Given the description of an element on the screen output the (x, y) to click on. 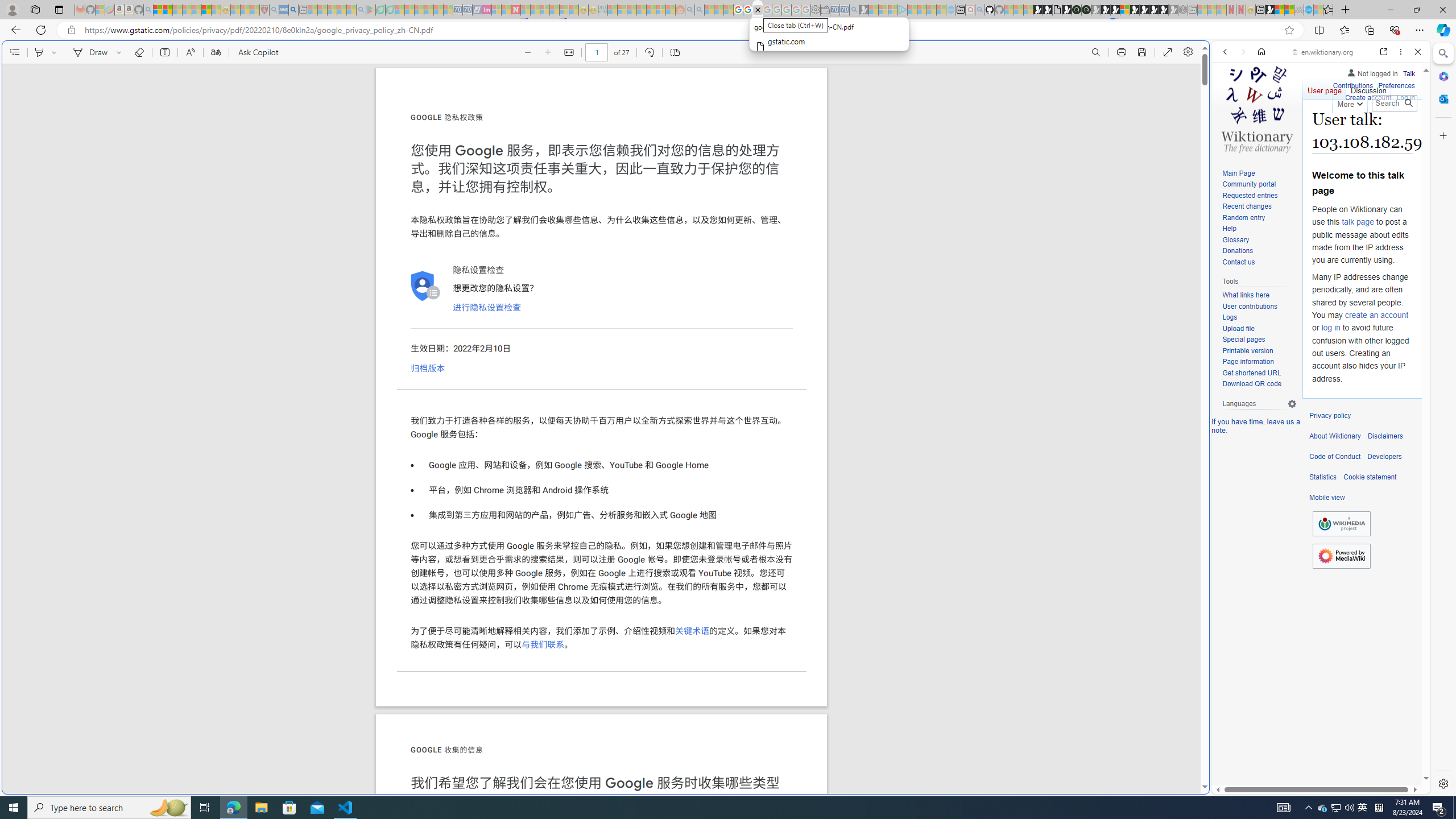
Page information (1247, 361)
Random entry (1259, 218)
Select ink properties (120, 52)
Earth has six continents not seven, radical new study claims (1288, 9)
VIDEOS (1300, 130)
create an account (1376, 314)
Microsoft-Report a Concern to Bing - Sleeping (99, 9)
Play Free Online Games | Games from Microsoft Start (1144, 9)
Robert H. Shmerling, MD - Harvard Health - Sleeping (263, 9)
Disclaimers (1385, 436)
Powered by MediaWiki (1341, 556)
Select a highlight color (56, 52)
